Given the description of an element on the screen output the (x, y) to click on. 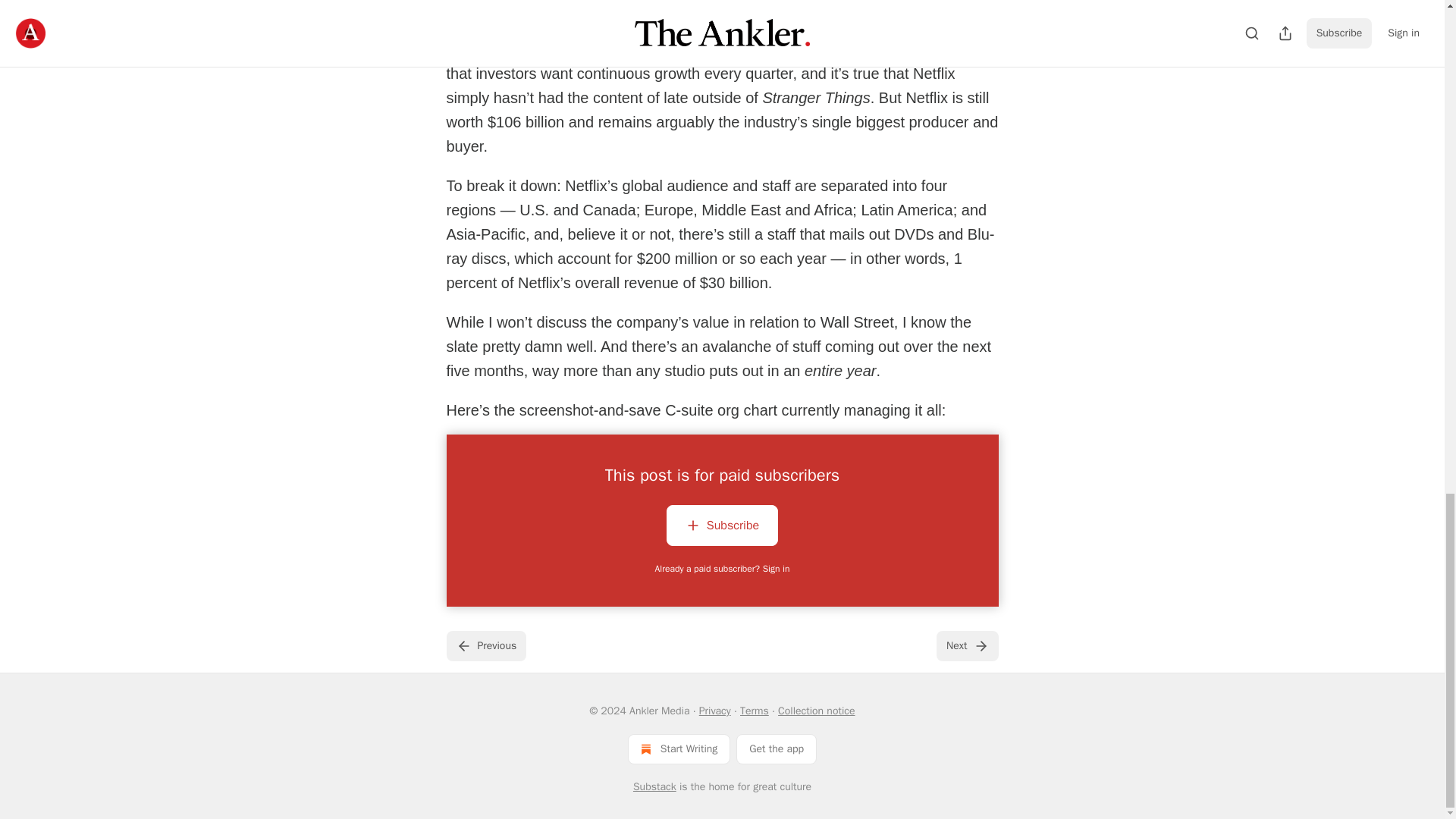
Privacy (714, 710)
Already a paid subscriber? Sign in (722, 568)
Subscribe (721, 525)
Substack (655, 786)
Terms (753, 710)
Collection notice (815, 710)
Next (966, 645)
Subscribe (721, 527)
Start Writing (678, 748)
Get the app (776, 748)
